Given the description of an element on the screen output the (x, y) to click on. 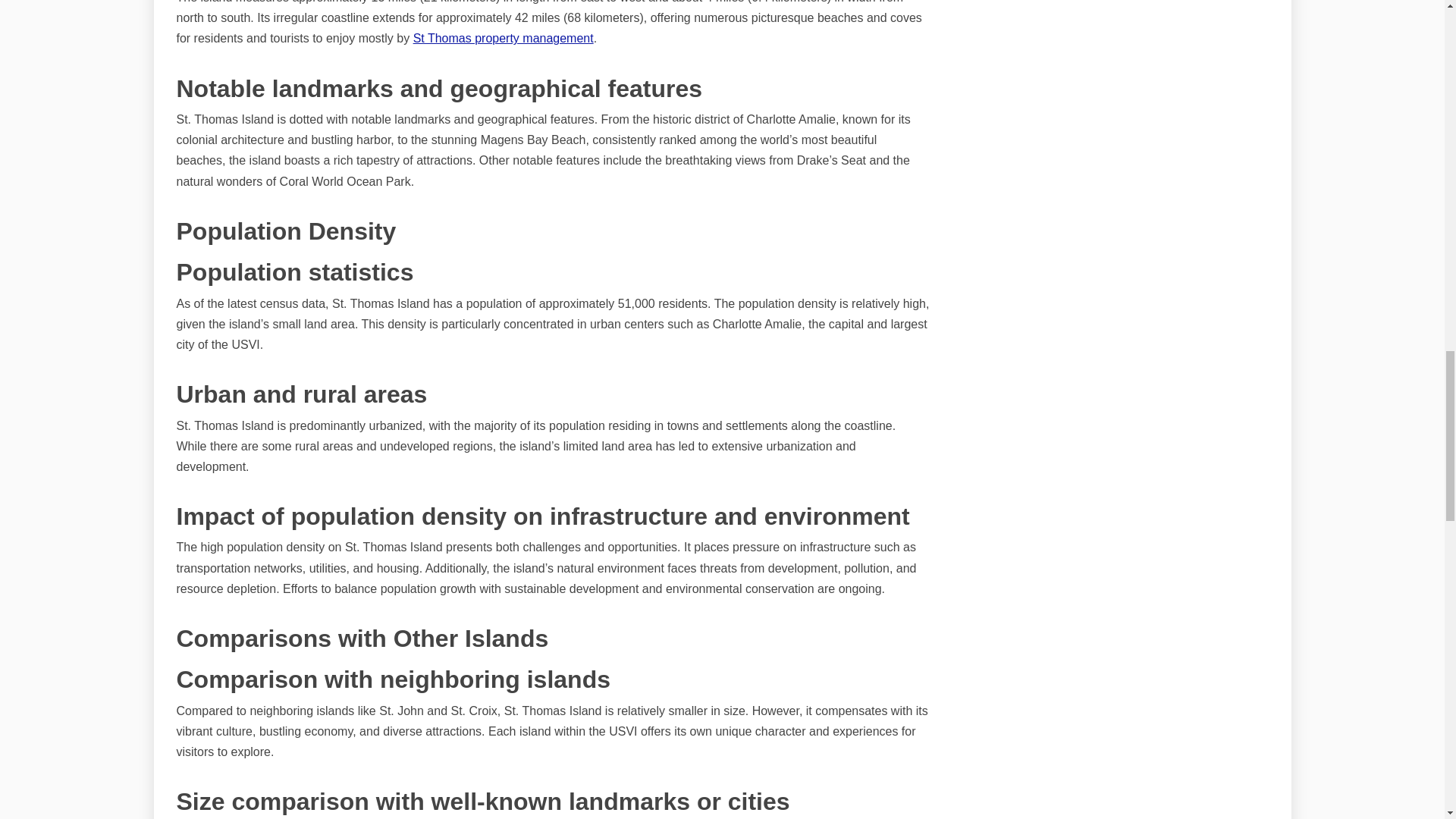
St Thomas property management (503, 38)
